Given the description of an element on the screen output the (x, y) to click on. 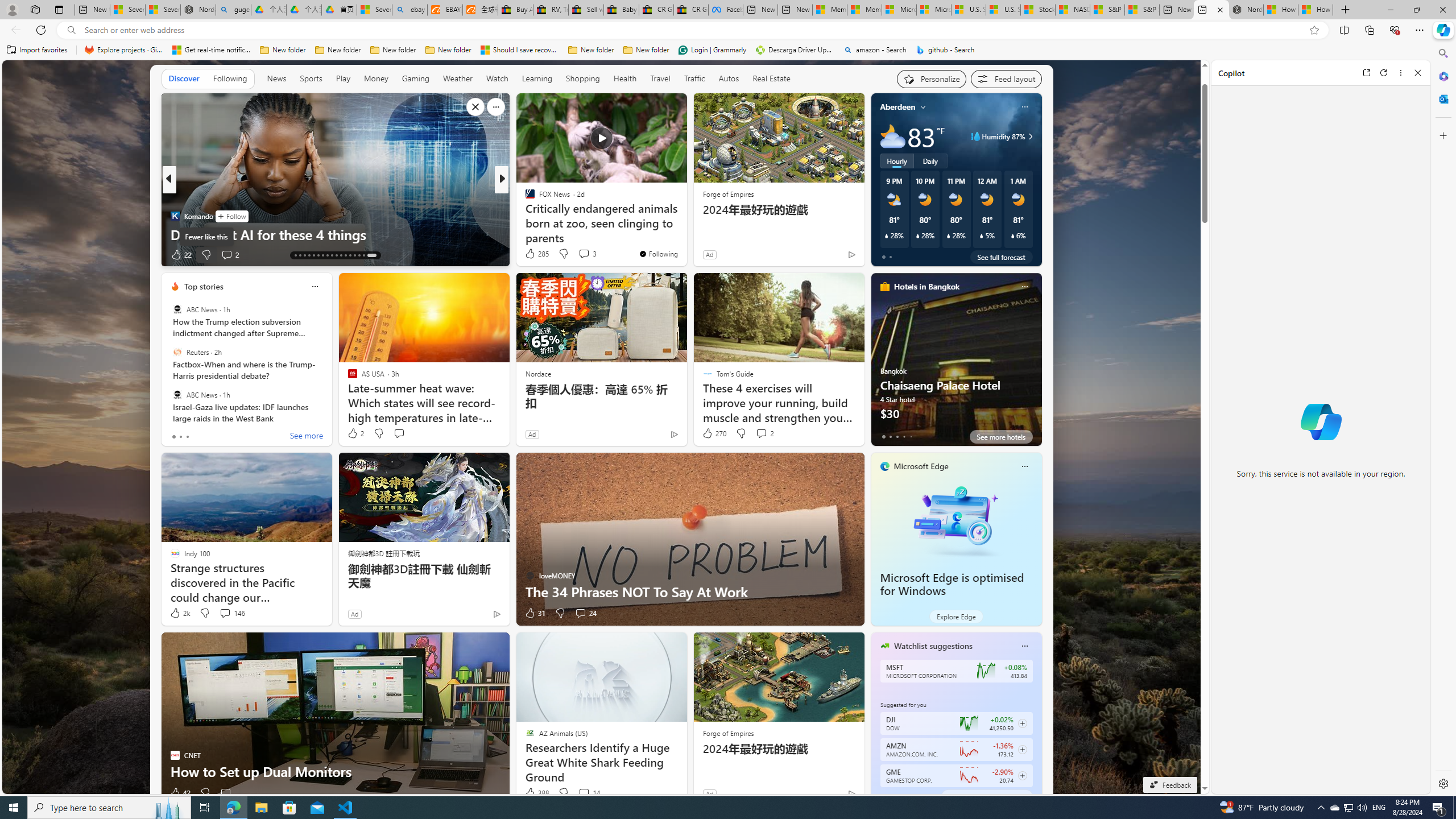
Real Estate (771, 79)
See more hotels (1000, 436)
Gaming (415, 78)
You're following FOX News (657, 253)
RV, Trailer & Camper Steps & Ladders for sale | eBay (550, 9)
Real Estate (771, 78)
My location (922, 106)
Hotels in Bangkok (926, 286)
guge yunpan - Search (233, 9)
